Given the description of an element on the screen output the (x, y) to click on. 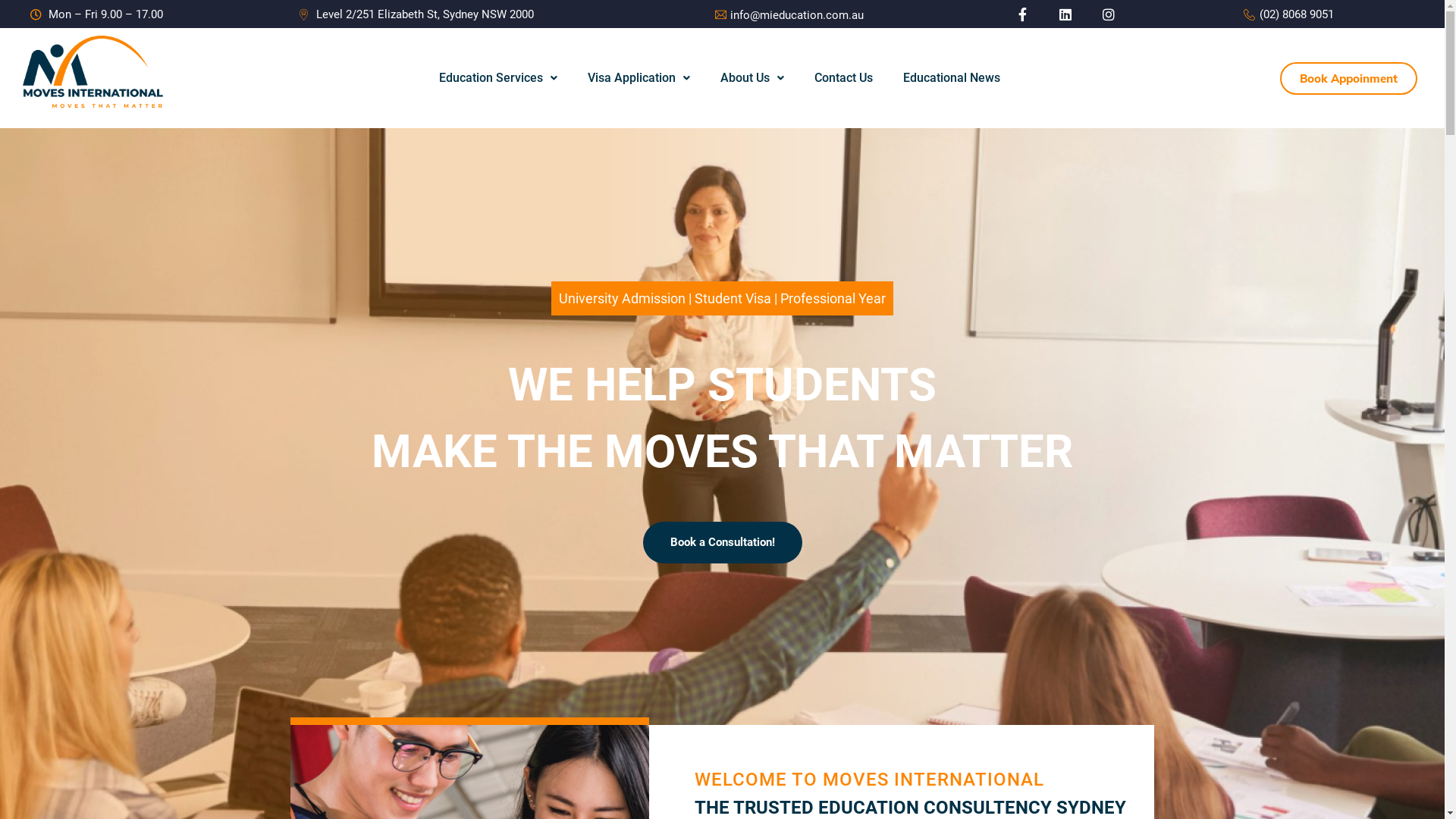
info@mieducation.com.au Element type: text (721, 15)
Book a Consultation! Element type: text (722, 542)
Contact Us Element type: text (843, 78)
Educational News Element type: text (951, 78)
(02) 8068 9051 Element type: text (1287, 14)
Education Services Element type: text (497, 78)
Visa Application Element type: text (638, 78)
Book Appoinment Element type: text (1348, 78)
About Us Element type: text (752, 78)
